Given the description of an element on the screen output the (x, y) to click on. 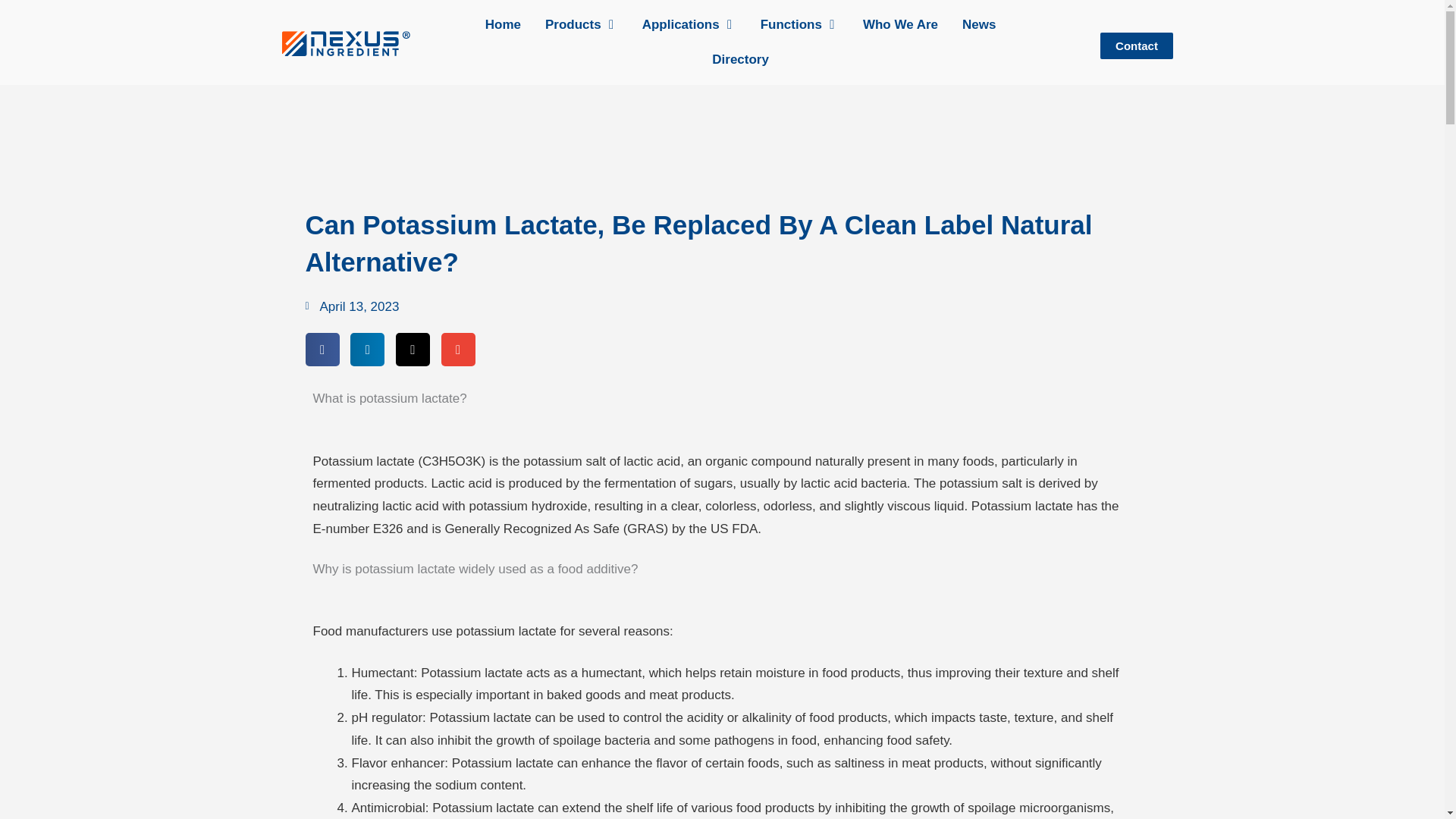
Directory (739, 59)
Open Functions (831, 24)
Home (502, 24)
Open Applications (729, 24)
Who We Are (900, 24)
Open Products (611, 24)
Contact (1136, 45)
Applications (680, 24)
News (978, 24)
Functions (791, 24)
